Given the description of an element on the screen output the (x, y) to click on. 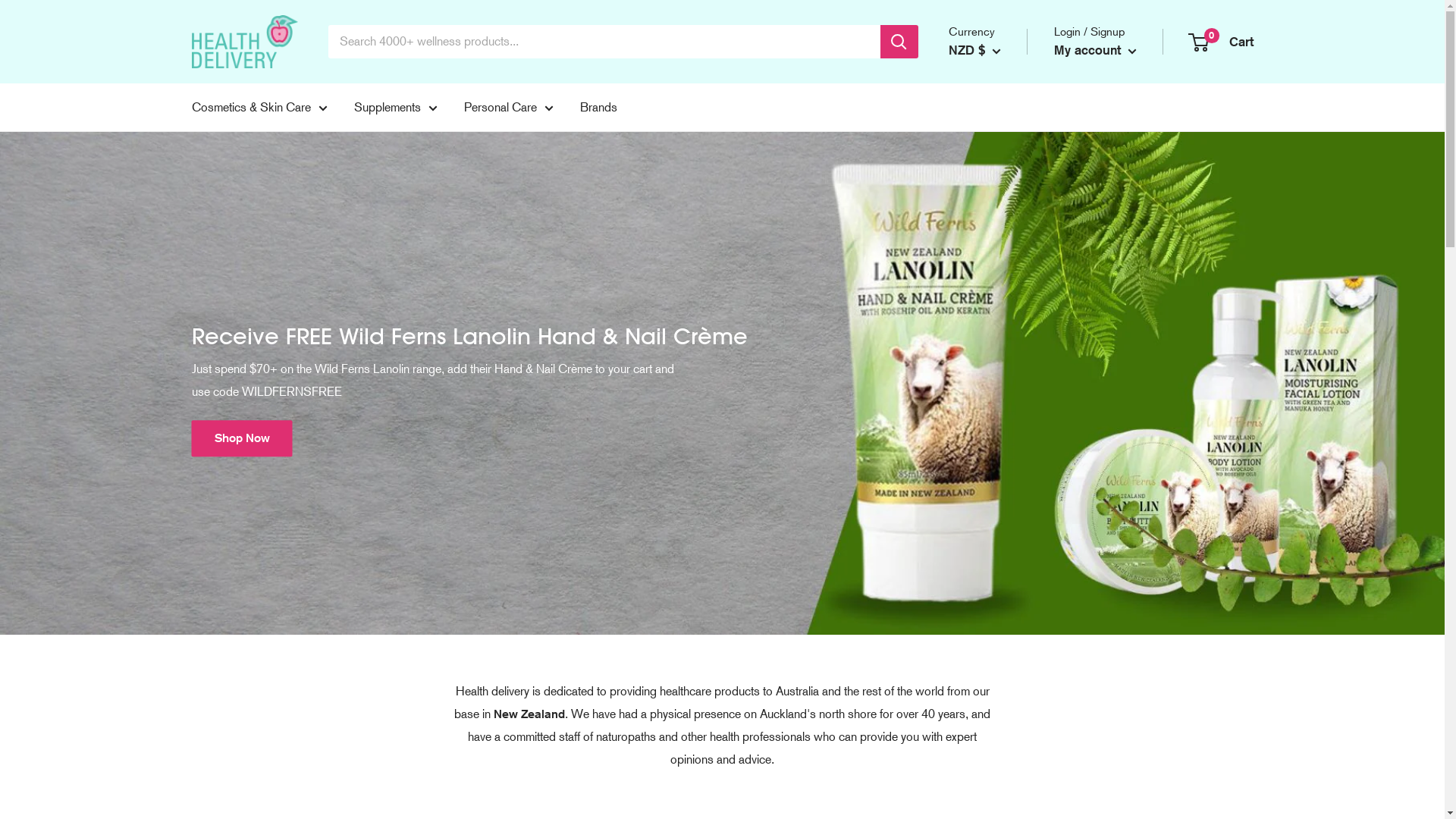
Health Delivery Element type: text (244, 41)
USD Element type: text (987, 407)
Personal Care Element type: text (508, 107)
SGD Element type: text (987, 360)
KRW Element type: text (987, 291)
JPY Element type: text (987, 268)
TWD Element type: text (987, 384)
Shop Now Element type: text (241, 438)
NZD $ Element type: text (973, 49)
AUD Element type: text (987, 106)
GBP Element type: text (987, 198)
Cosmetics & Skin Care Element type: text (258, 107)
PHP Element type: text (987, 338)
Supplements Element type: text (394, 107)
CAD Element type: text (987, 129)
0
Cart Element type: text (1220, 41)
EUR Element type: text (987, 175)
ILS Element type: text (987, 244)
Brands Element type: text (597, 107)
CNY Element type: text (987, 152)
NZD Element type: text (987, 314)
My account Element type: text (1095, 49)
HKD Element type: text (987, 222)
